Given the description of an element on the screen output the (x, y) to click on. 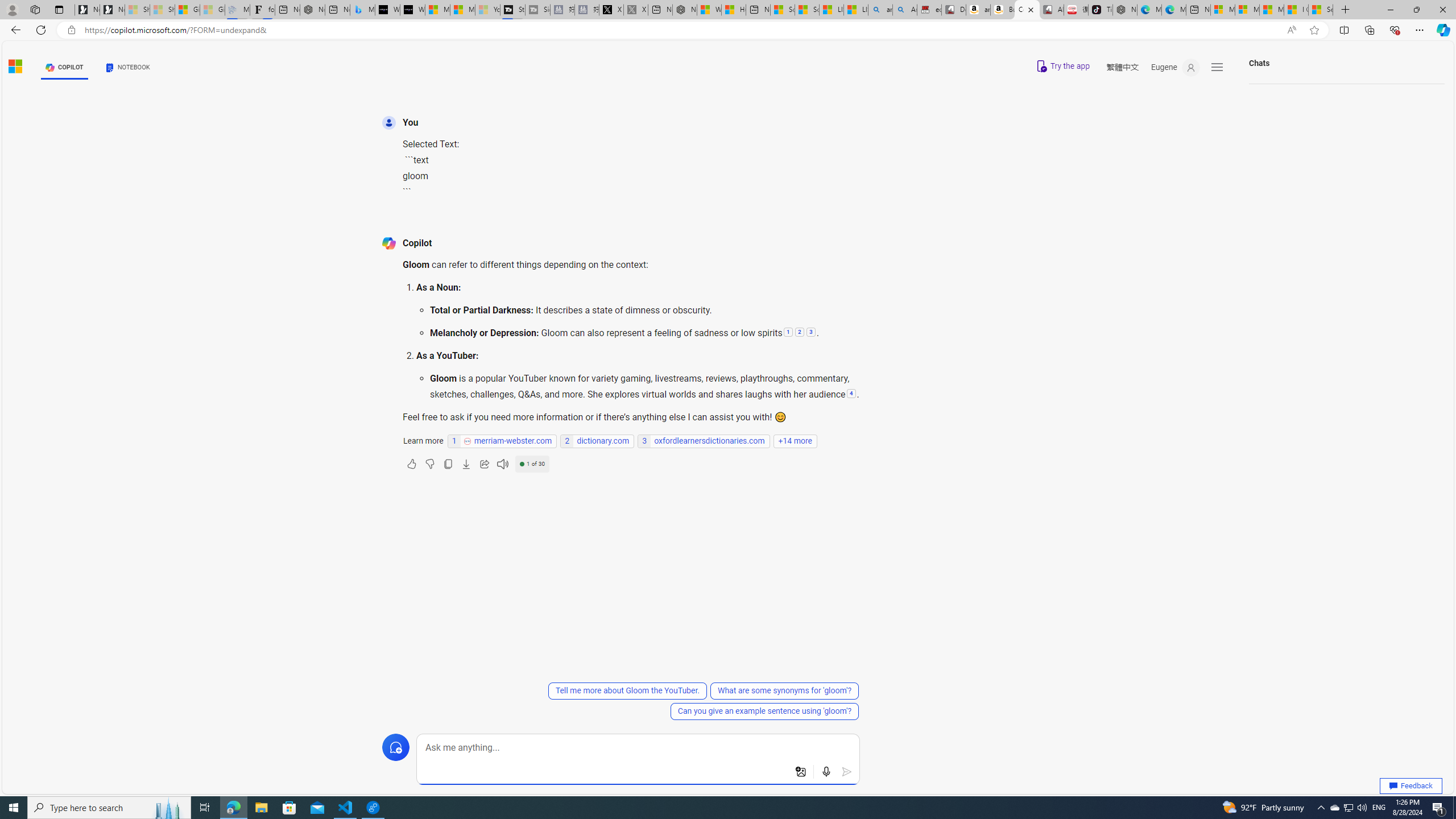
Can you give an example sentence using 'gloom'? (764, 710)
Export (466, 464)
TikTok (1100, 9)
Nordace - #1 Japanese Best-Seller - Siena Smart Backpack (312, 9)
What are some synonyms for 'gloom'? (784, 690)
Amazon Echo Dot PNG - Search Images (904, 9)
What are some synonyms for 'gloom'? (783, 690)
Streaming Coverage | T3 (512, 9)
Copilot (1026, 9)
2: Melancholy or Depression: (799, 332)
